Given the description of an element on the screen output the (x, y) to click on. 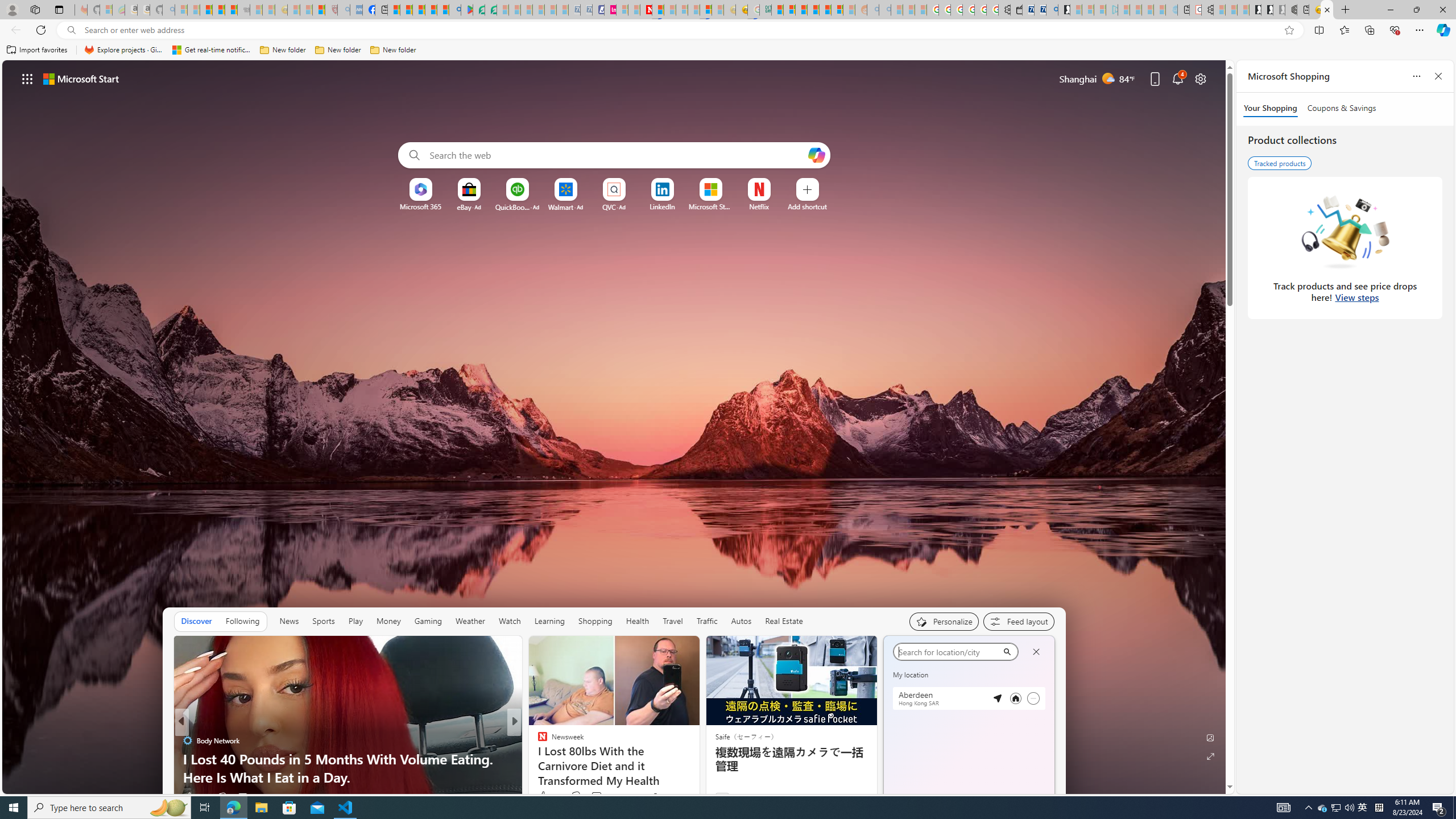
View comments 31 Comment (247, 796)
Edit Background (1210, 737)
Blake Lively's Go-To Dessert Is So Easy To Make (697, 777)
194 Like (545, 796)
View comments 73 Comment (595, 795)
Pets - MSN (431, 9)
Wallet (1016, 9)
